Given the description of an element on the screen output the (x, y) to click on. 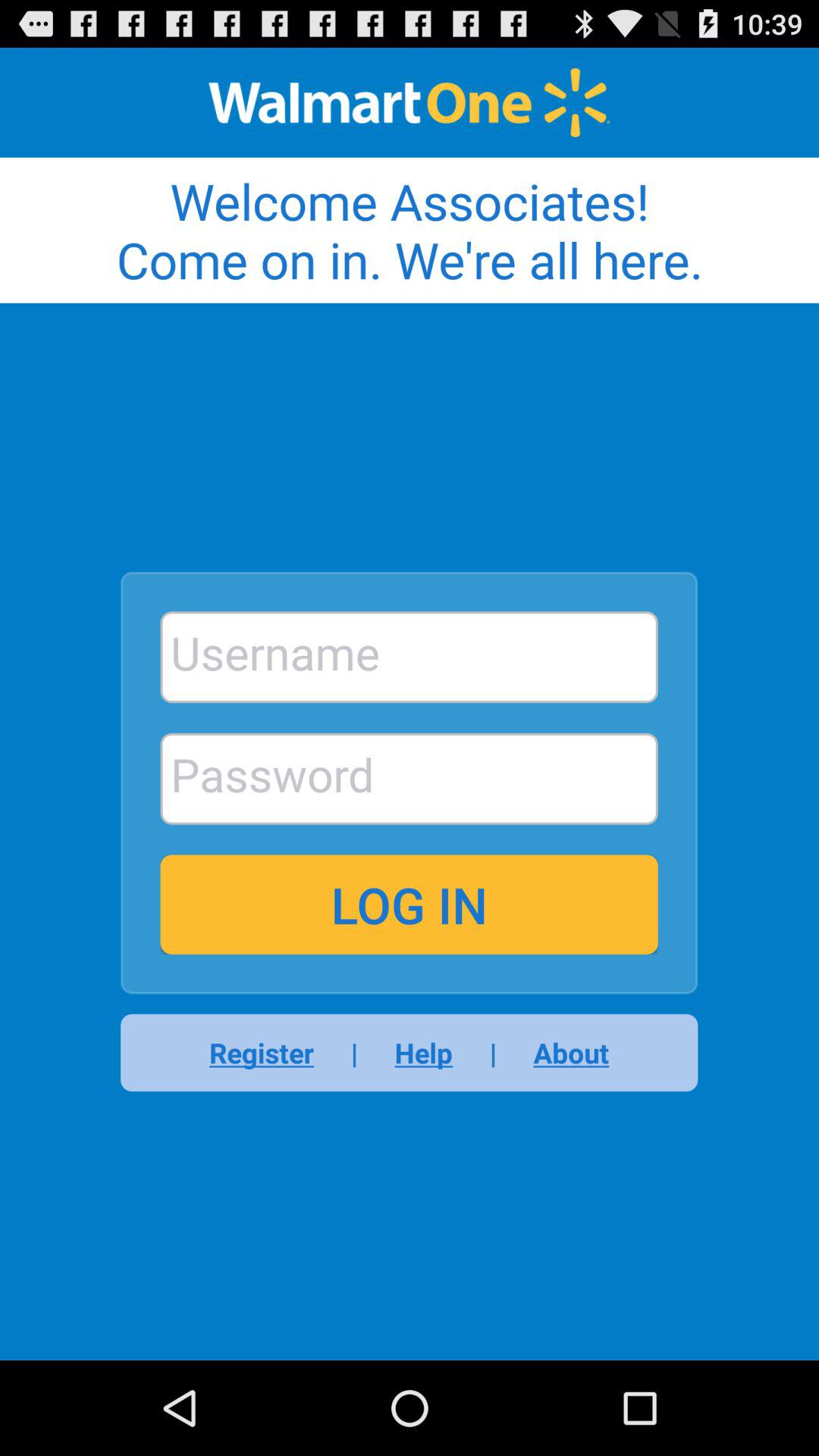
click the item to the left of the | app (271, 1052)
